Given the description of an element on the screen output the (x, y) to click on. 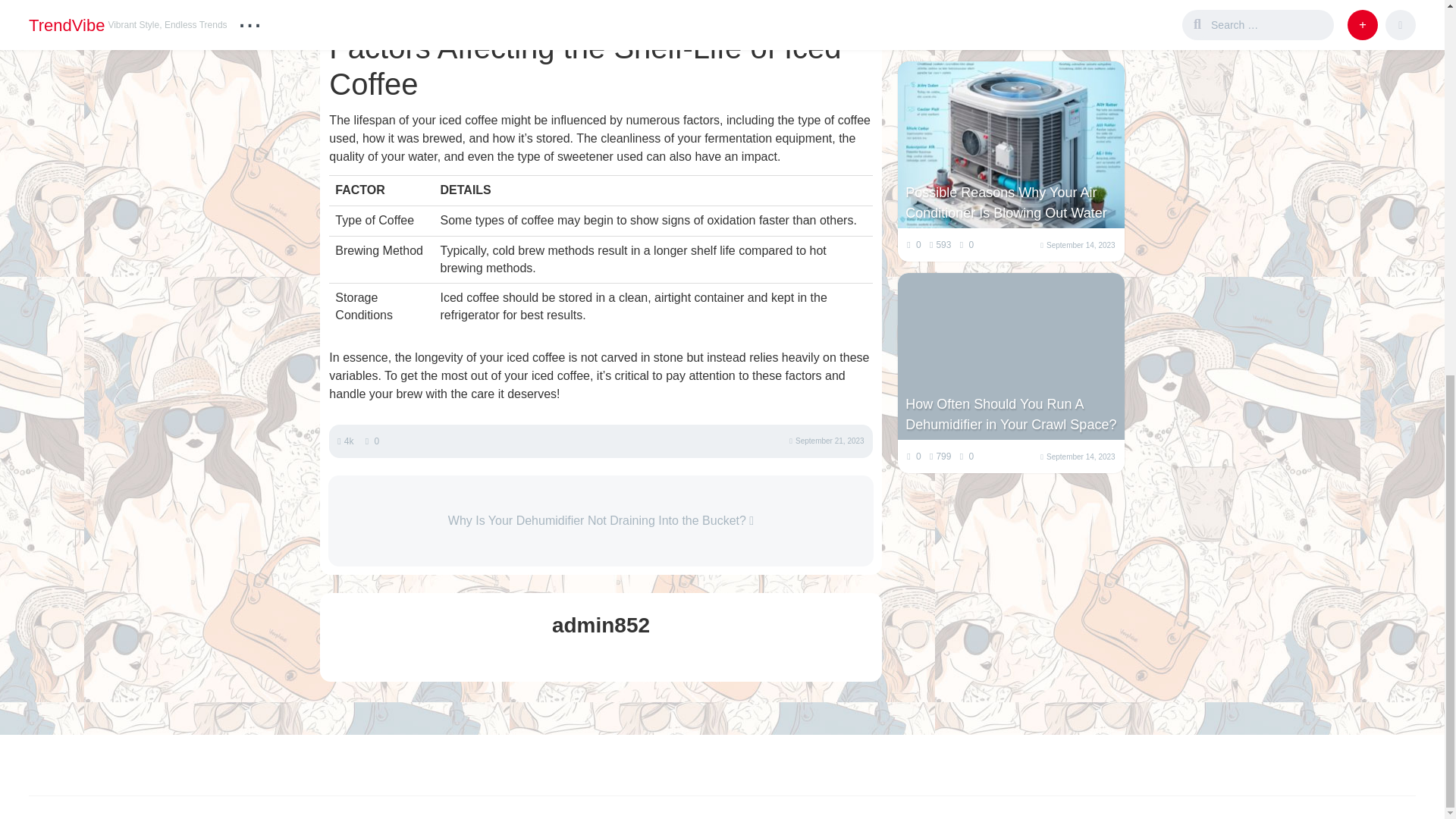
How Often Should You Run A Dehumidifier in Your Crawl Space? (1010, 413)
Why Is Your Dehumidifier Not Draining Into the Bucket? (601, 520)
4 Reasons Why Your Space Heater Is Tripping Breaker (1010, 6)
admin852 (600, 625)
